Given the description of an element on the screen output the (x, y) to click on. 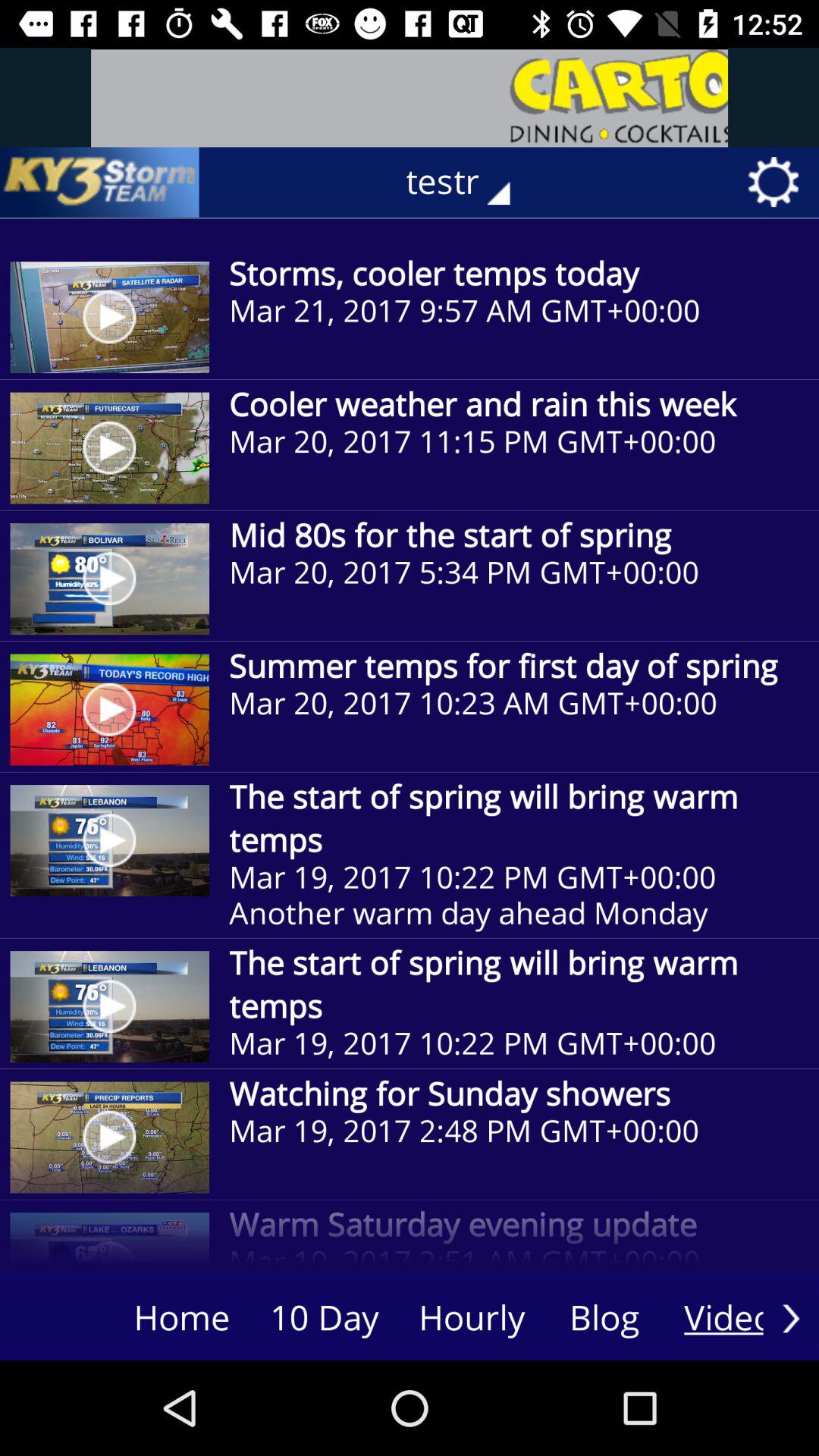
turn off the item next to the testr item (99, 182)
